Given the description of an element on the screen output the (x, y) to click on. 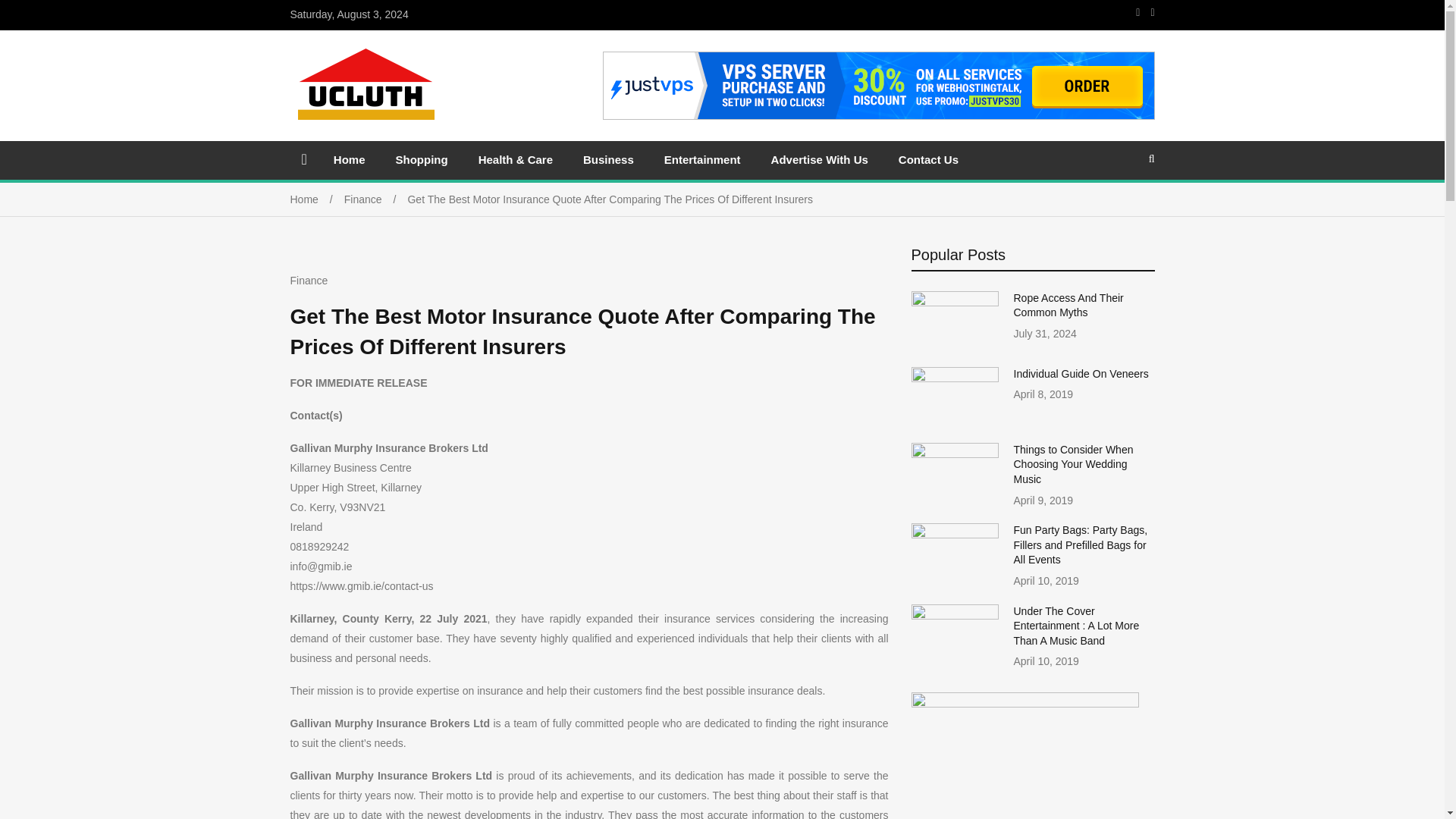
Contact Us (928, 147)
Advertise With Us (819, 147)
Shopping (421, 147)
Home (316, 186)
Individual Guide On Veneers (1080, 360)
Home (349, 147)
Entertainment (702, 147)
Finance (375, 186)
Things to Consider When Choosing Your Wedding Music (1072, 451)
Great Things About Champagne Gift Hamper (1072, 292)
